Given the description of an element on the screen output the (x, y) to click on. 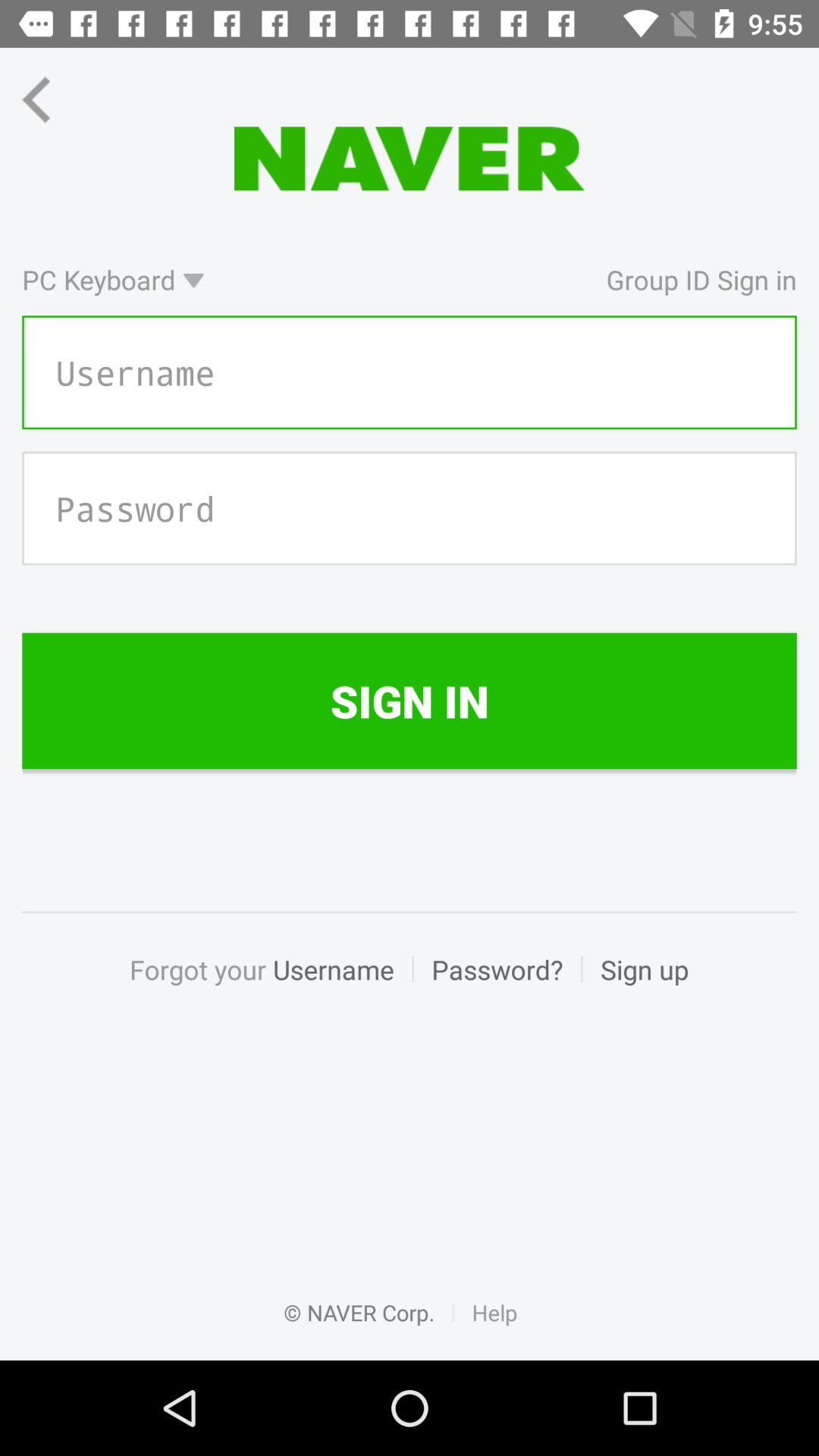
open sign up at the bottom right corner (635, 985)
